Given the description of an element on the screen output the (x, y) to click on. 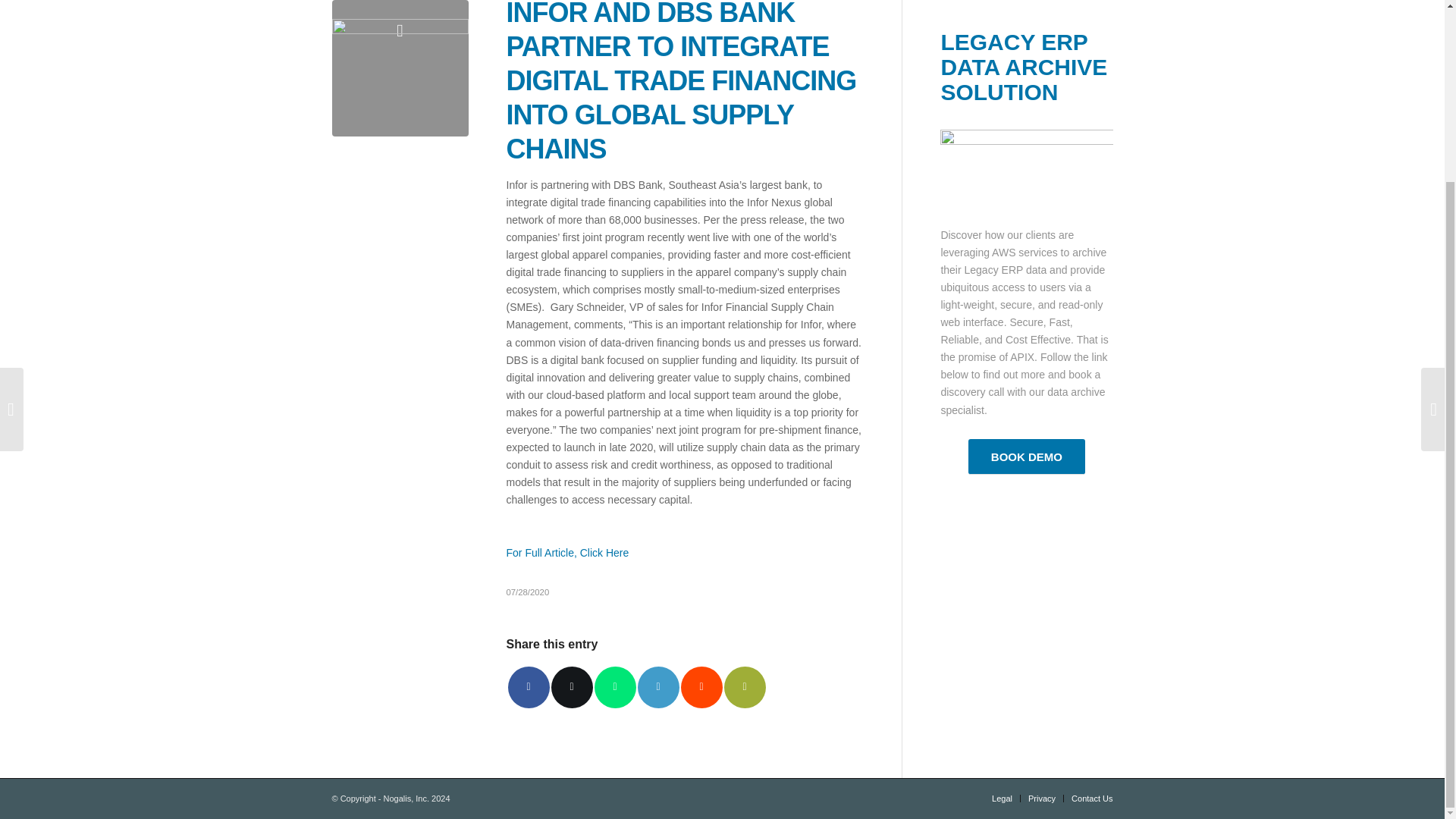
Legal (1001, 798)
digital-supply-chain (399, 68)
Privacy (1041, 798)
Contact Us (1091, 798)
LEGACY ERP DATA ARCHIVE SOLUTION (1023, 66)
For Full Article, Click Here (567, 552)
BOOK DEMO (1026, 456)
Book a time to discuss your project with an expert (1026, 456)
